Given the description of an element on the screen output the (x, y) to click on. 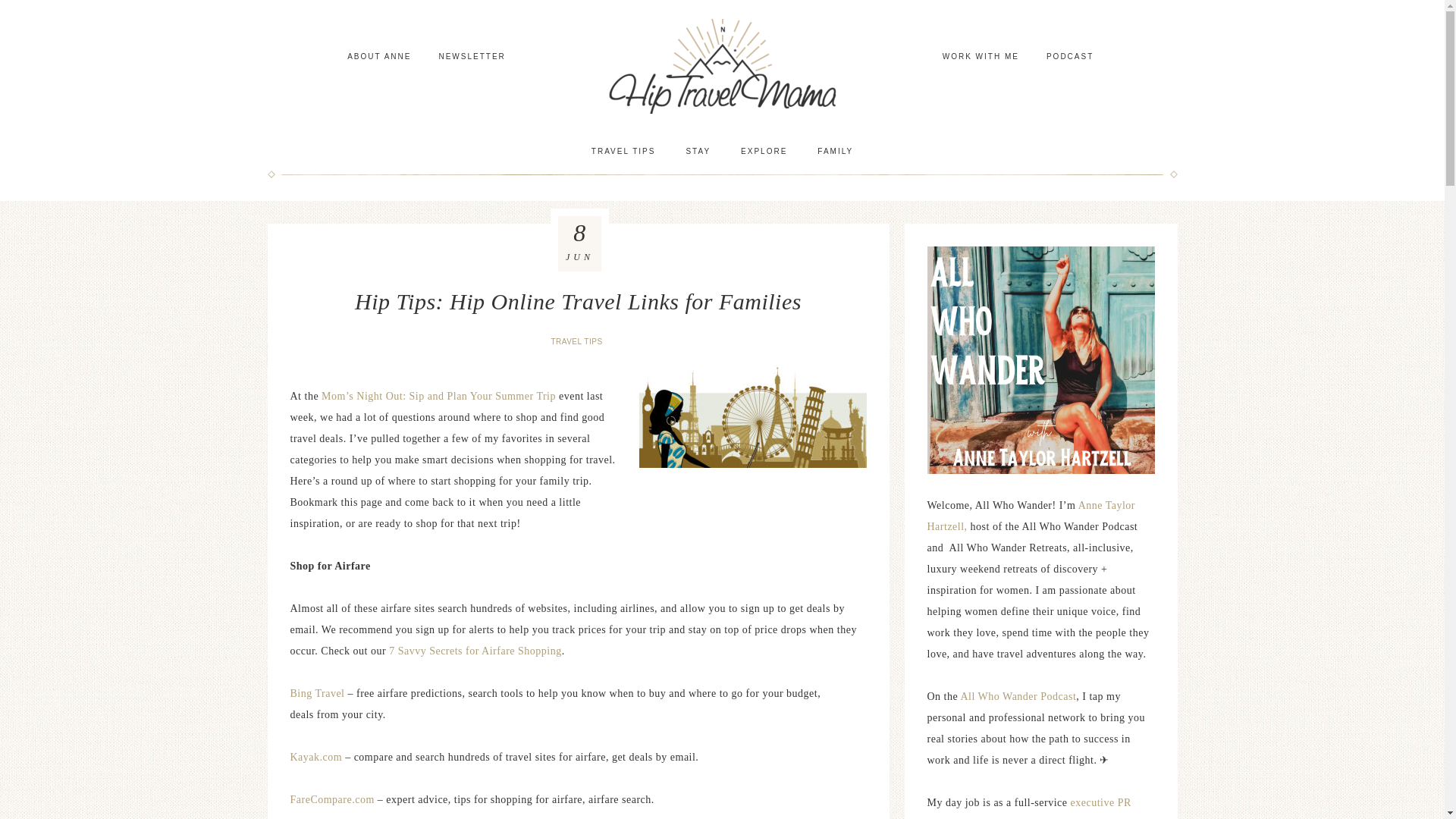
NEWSLETTER (471, 56)
TRAVEL TIPS (623, 151)
STAY (697, 151)
Bing Travel (316, 693)
ABOUT ANNE (379, 56)
PODCAST (1069, 56)
WORK WITH ME (980, 56)
Smart Travel Shopping (752, 423)
Kayak.com (315, 756)
TRAVEL TIPS (577, 341)
FareCompare.com (331, 799)
EXPLORE (763, 151)
FAMILY (834, 151)
7 Savvy Secrets for Airfare Shopping (475, 650)
